Given the description of an element on the screen output the (x, y) to click on. 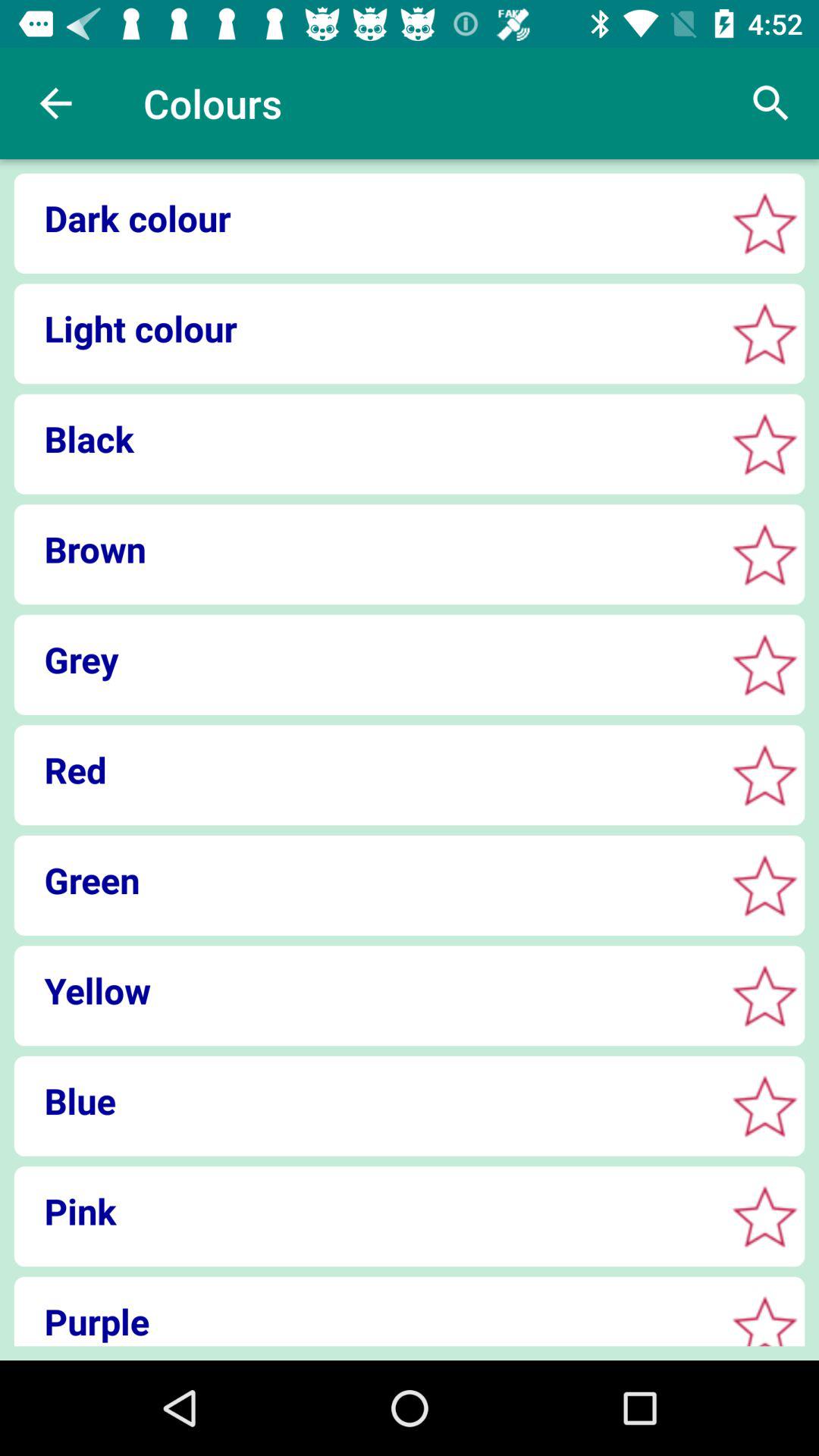
toggle fa (764, 554)
